Given the description of an element on the screen output the (x, y) to click on. 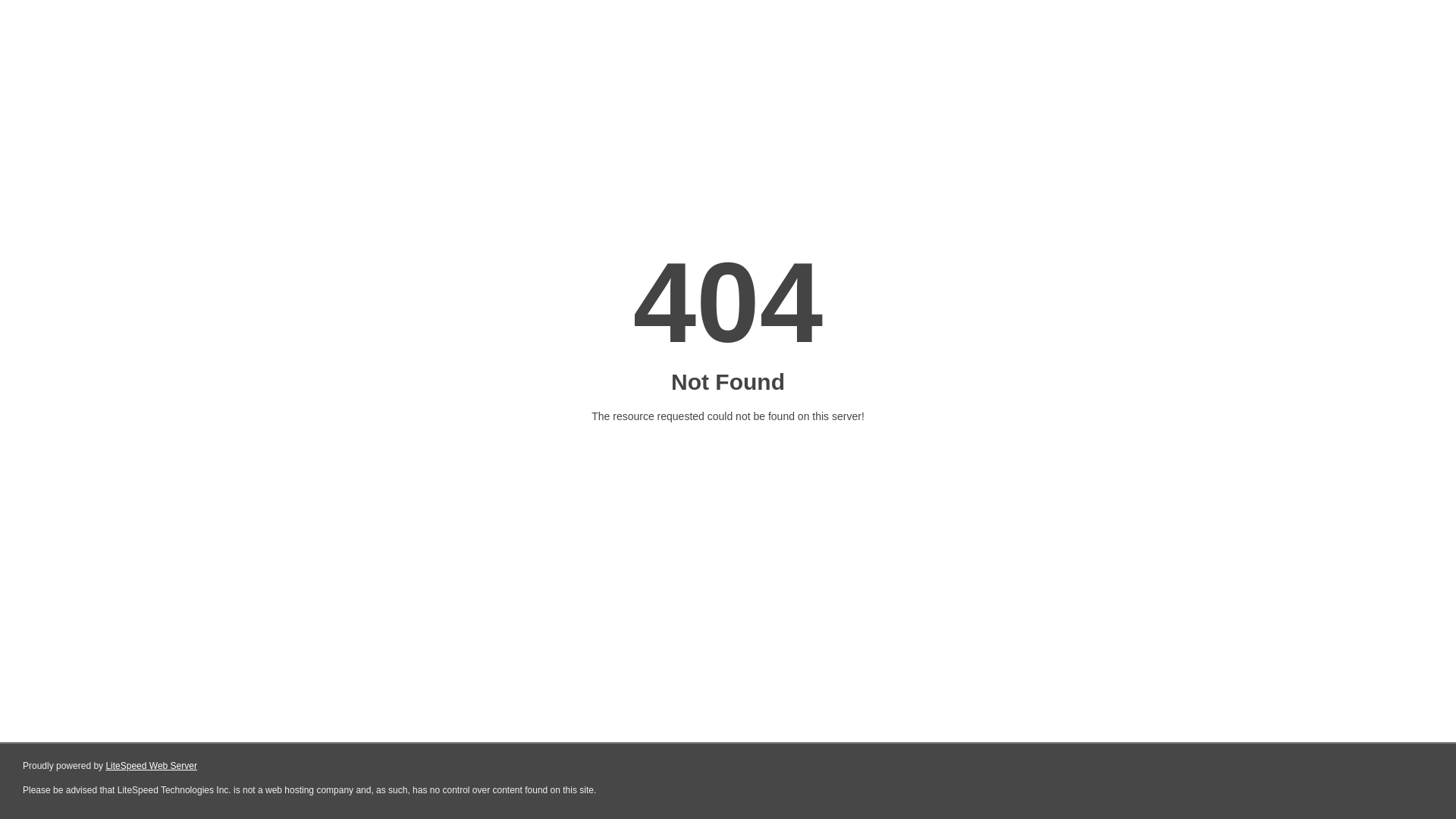
LiteSpeed Web Server (150, 765)
